Given the description of an element on the screen output the (x, y) to click on. 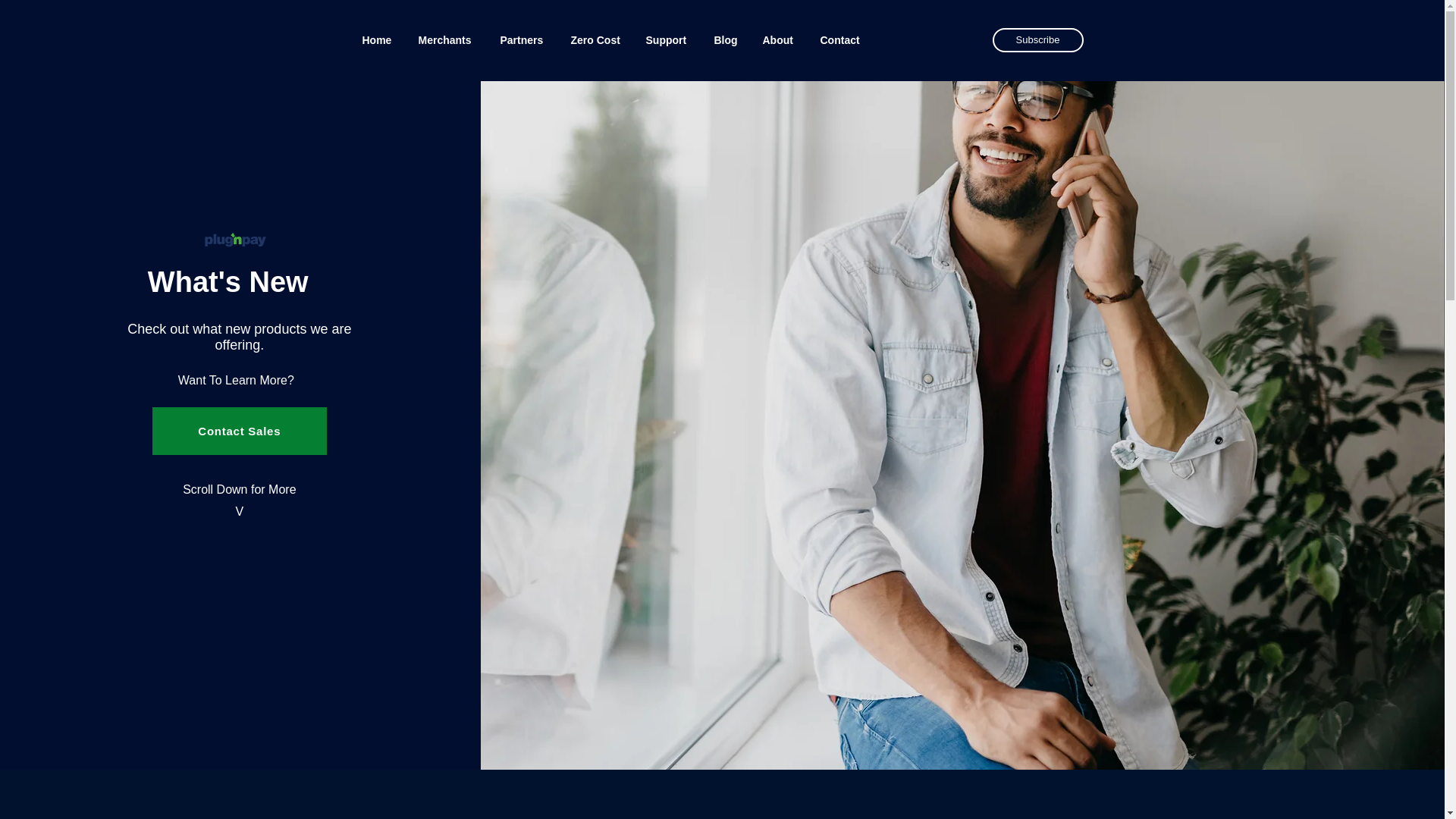
Contact (841, 39)
Support (667, 39)
Subscribe (1037, 39)
Blog (726, 39)
About (779, 39)
Home (378, 39)
Partners (523, 39)
Contact Sales (239, 431)
Zero Cost (596, 39)
Merchants (446, 39)
